Given the description of an element on the screen output the (x, y) to click on. 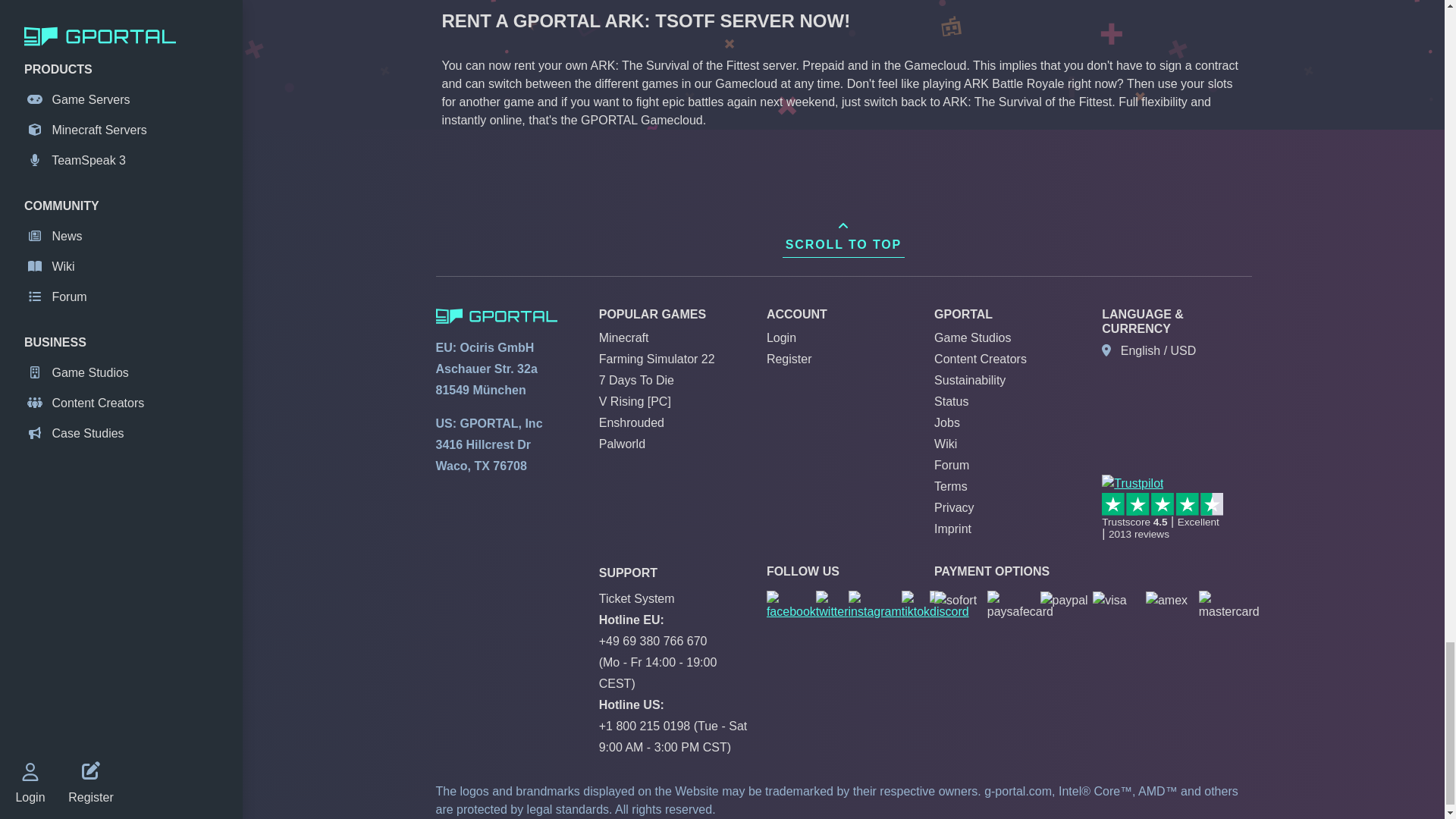
SCROLL TO TOP (843, 235)
Register (789, 358)
Game Studios (972, 337)
Minecraft (623, 337)
Enshrouded (630, 422)
Palworld (621, 443)
7 Days To Die (636, 379)
Farming Simulator 22 (656, 358)
SCROLL TO TOP (843, 235)
